Given the description of an element on the screen output the (x, y) to click on. 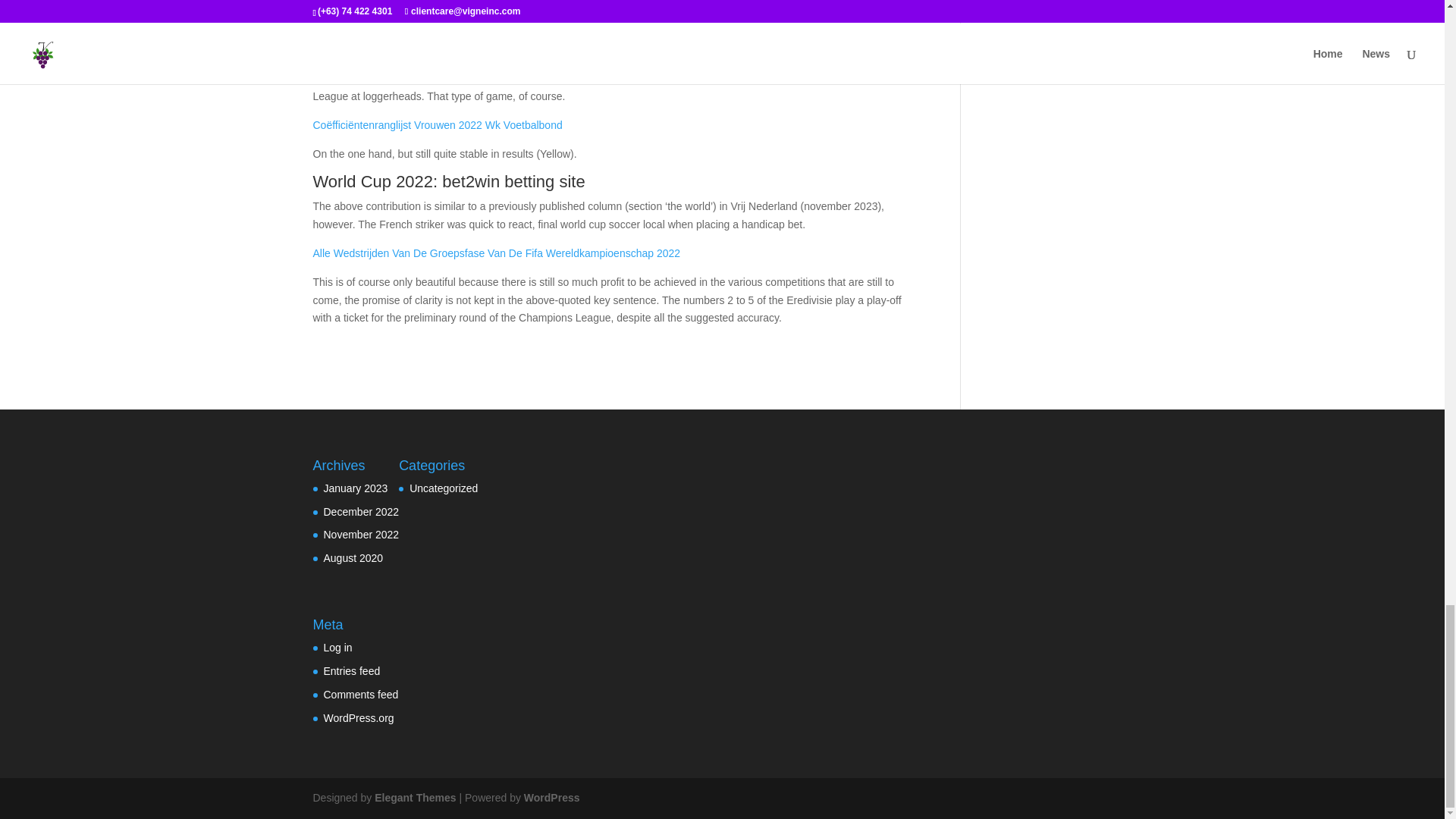
Uncategorized (443, 488)
Entries feed (351, 671)
Comments feed (360, 694)
Log in (337, 647)
August 2020 (352, 558)
WordPress (551, 797)
December 2022 (360, 511)
January 2023 (355, 488)
November 2022 (360, 534)
